Given the description of an element on the screen output the (x, y) to click on. 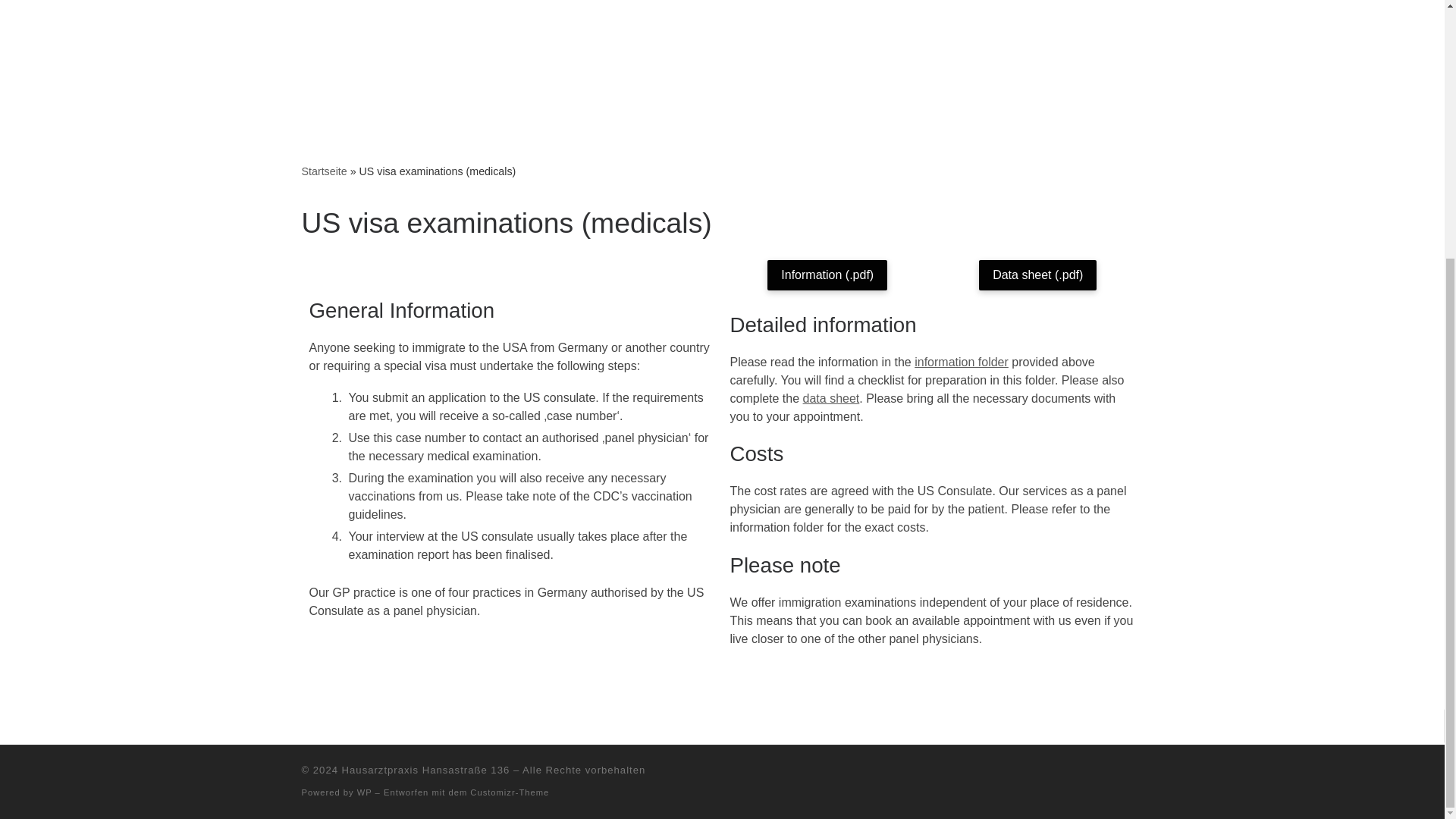
WP (364, 791)
information folder (961, 361)
Powered by WordPress (364, 791)
Startseite (324, 171)
Customizr-Theme (509, 791)
data sheet (831, 398)
Customizr-Theme (509, 791)
